Given the description of an element on the screen output the (x, y) to click on. 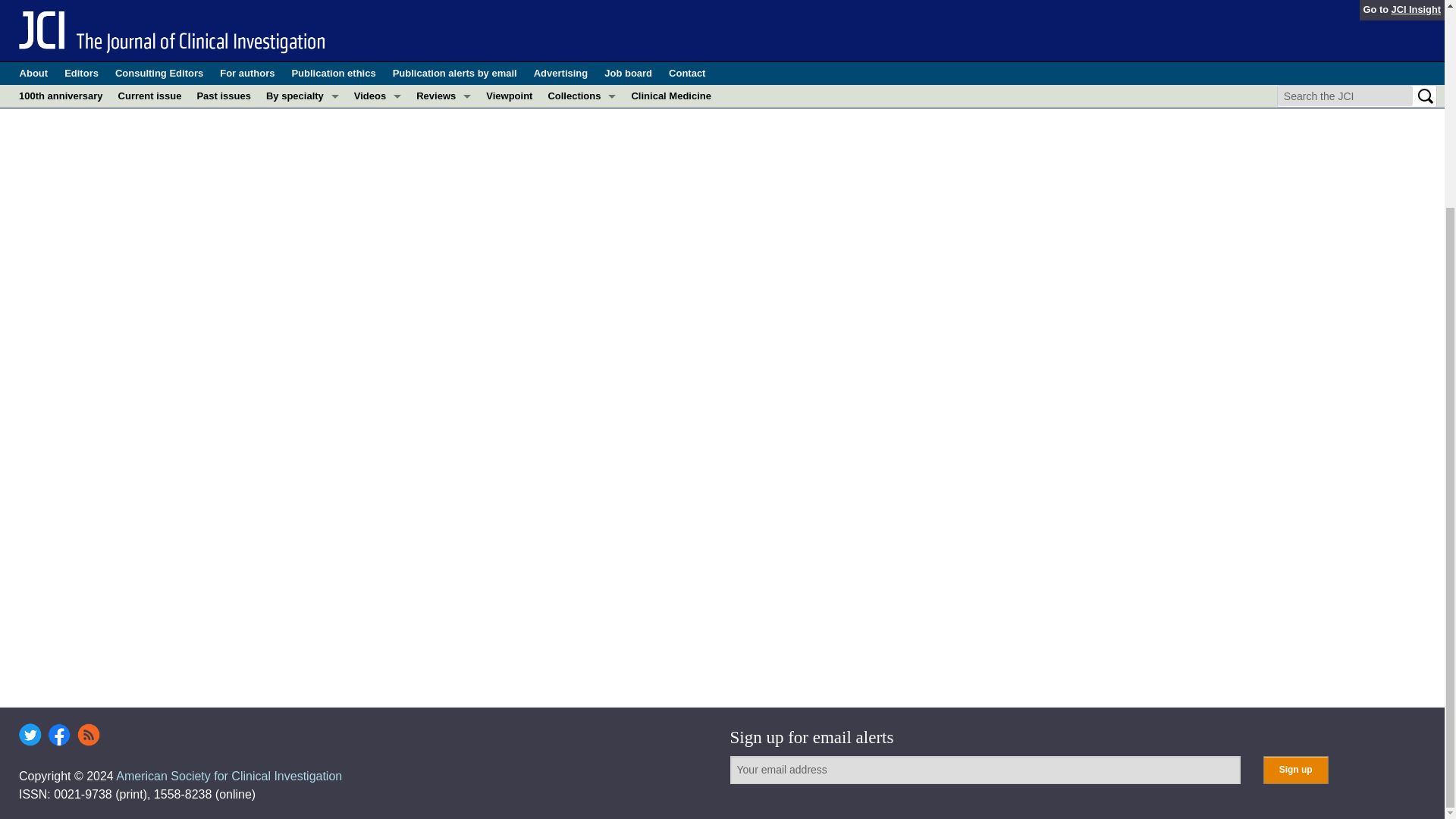
Vascular biology (302, 56)
All ... (302, 78)
Sign up (1295, 769)
Oncology (302, 11)
Facebook (58, 734)
RSS (88, 734)
download (77, 23)
Twitter (30, 734)
Pulmonology (302, 33)
